Given the description of an element on the screen output the (x, y) to click on. 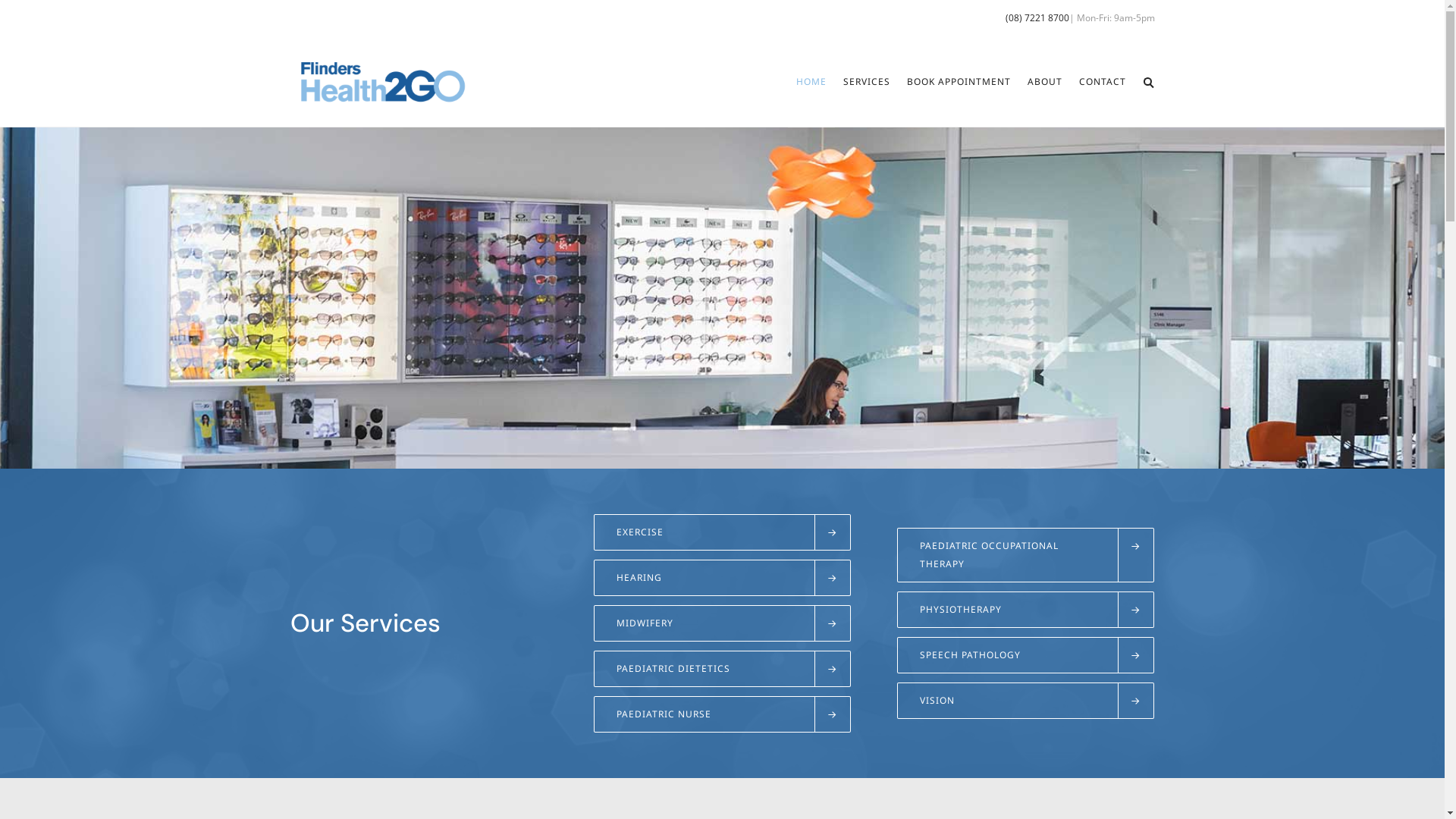
BOOK APPOINTMENT Element type: text (957, 81)
SPEECH PATHOLOGY Element type: text (1025, 655)
(08) 7221 8700 Element type: text (1037, 17)
VISION Element type: text (1025, 700)
PAEDIATRIC DIETETICS Element type: text (721, 668)
PHYSIOTHERAPY Element type: text (1025, 609)
EXERCISE Element type: text (721, 532)
CONTACT Element type: text (1102, 81)
SERVICES Element type: text (865, 81)
MIDWIFERY Element type: text (721, 623)
HOME Element type: text (810, 81)
ABOUT Element type: text (1044, 81)
HEARING Element type: text (721, 577)
PAEDIATRIC OCCUPATIONAL THERAPY Element type: text (1025, 554)
PAEDIATRIC NURSE Element type: text (721, 714)
